Given the description of an element on the screen output the (x, y) to click on. 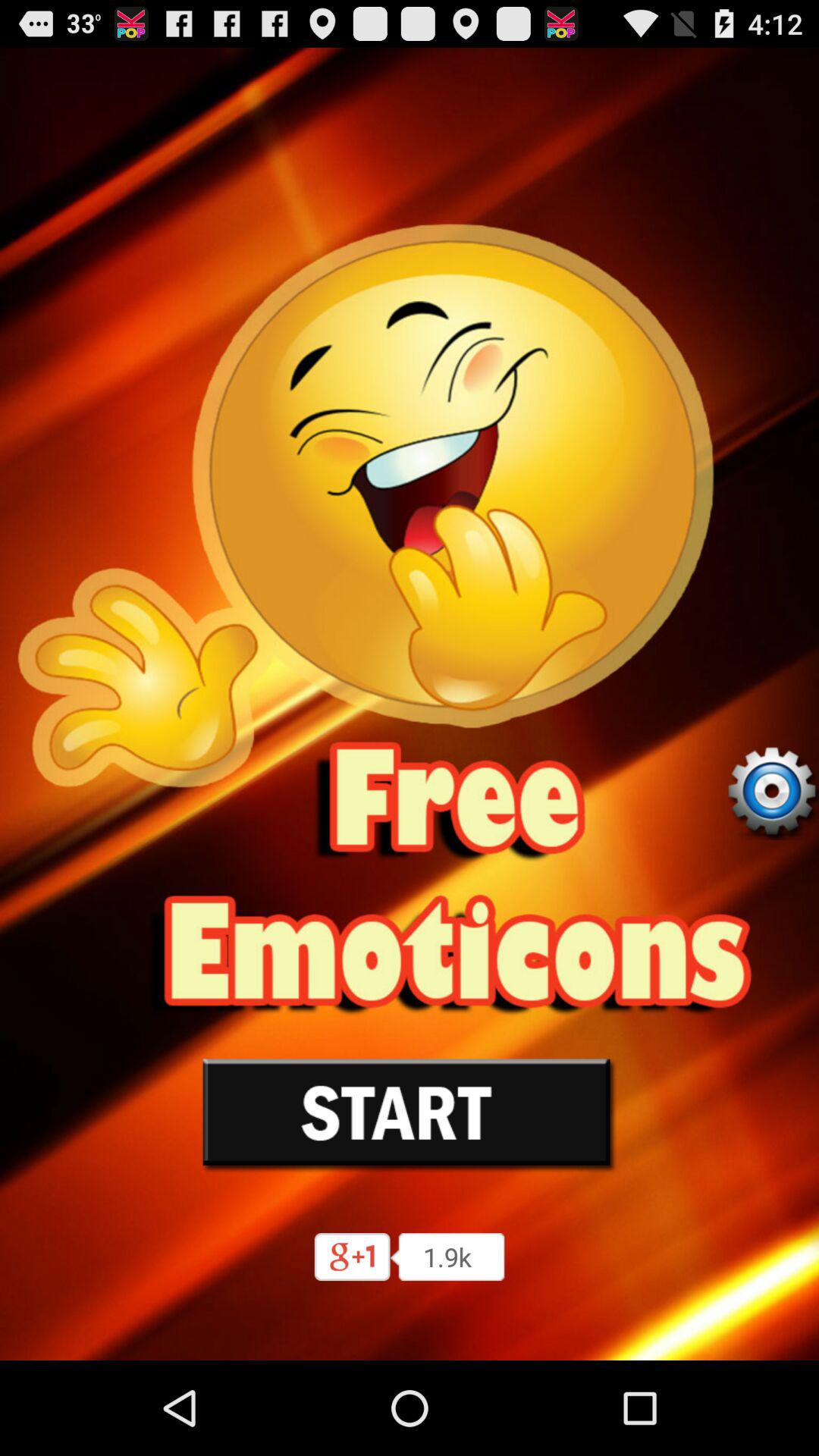
go to displeiy (771, 792)
